Given the description of an element on the screen output the (x, y) to click on. 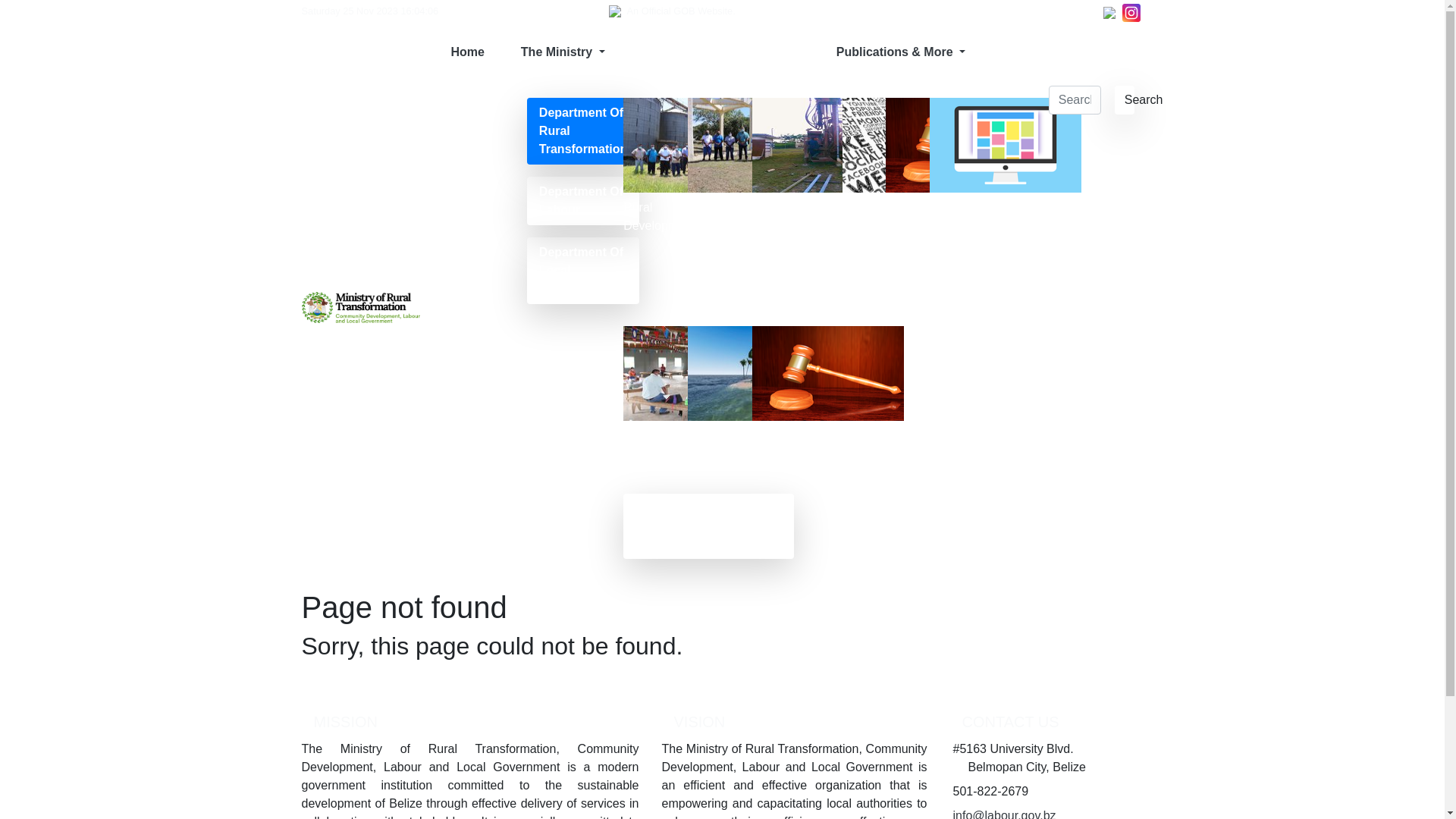
Department Of Local Government Element type: text (583, 270)
Department Of Labour Element type: text (583, 200)
Go to the Department Of Rural Transformation Page > Element type: text (708, 525)
Rural Water Supply and Sanitation Unit Element type: text (714, 200)
Legislation Element type: text (914, 155)
Search Element type: text (1124, 99)
The Ministry Element type: text (660, 52)
Village Council Element type: text (644, 393)
Rural Transformation Laws Element type: text (792, 402)
Publications & More Element type: text (918, 52)
Image Gallery Element type: text (948, 164)
Rural Development Element type: text (658, 164)
News & Press Releases Element type: text (867, 182)
Water Boards Element type: text (772, 164)
Department Of Rural Transformation Element type: text (583, 130)
Here is how you know! Element type: text (786, 10)
Home Element type: text (467, 52)
Rural Transformation FAQ Element type: text (727, 402)
